Given the description of an element on the screen output the (x, y) to click on. 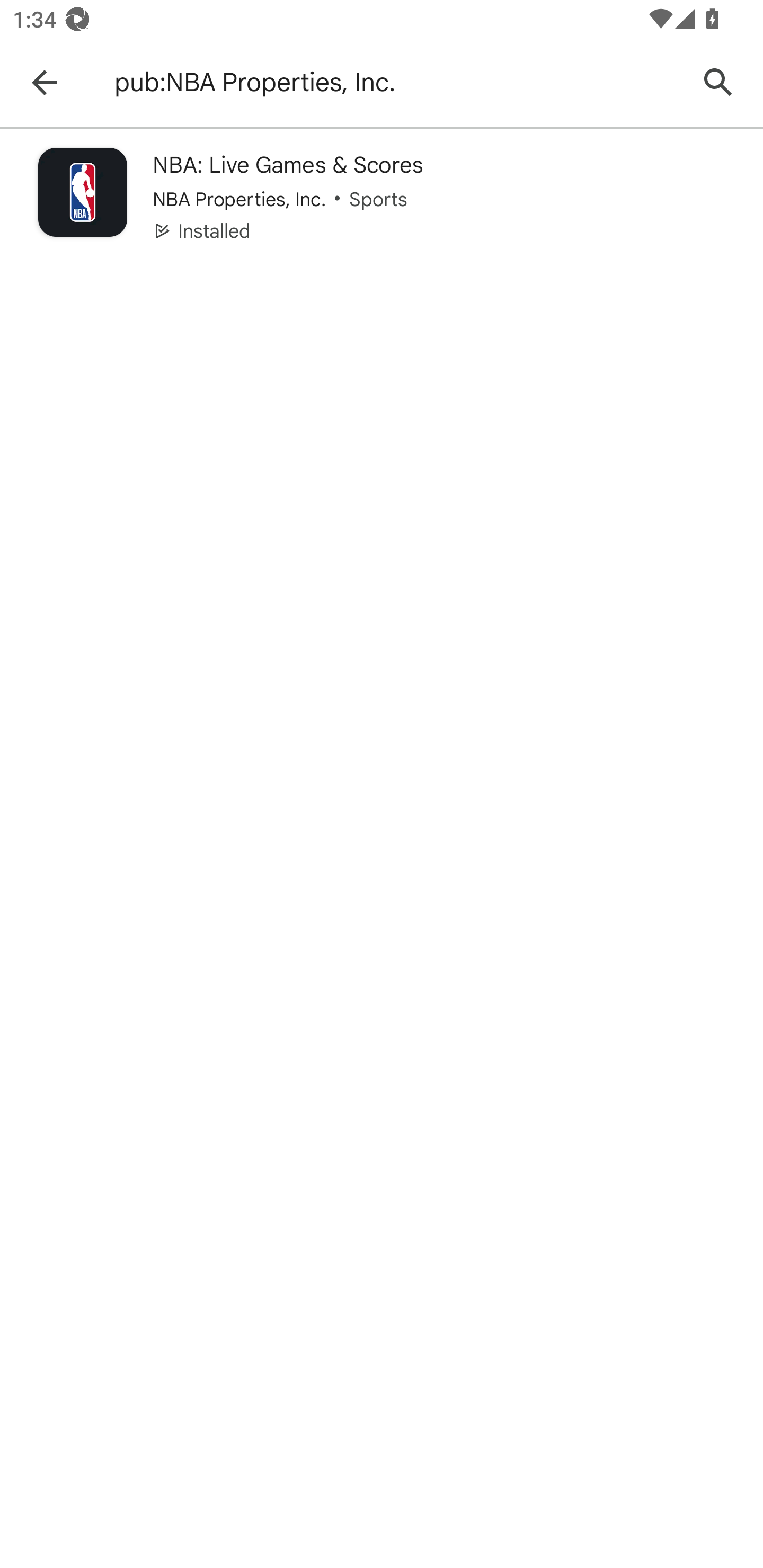
pub:NBA Properties, Inc. (397, 82)
Navigate up (44, 81)
Search Google Play (718, 81)
